Given the description of an element on the screen output the (x, y) to click on. 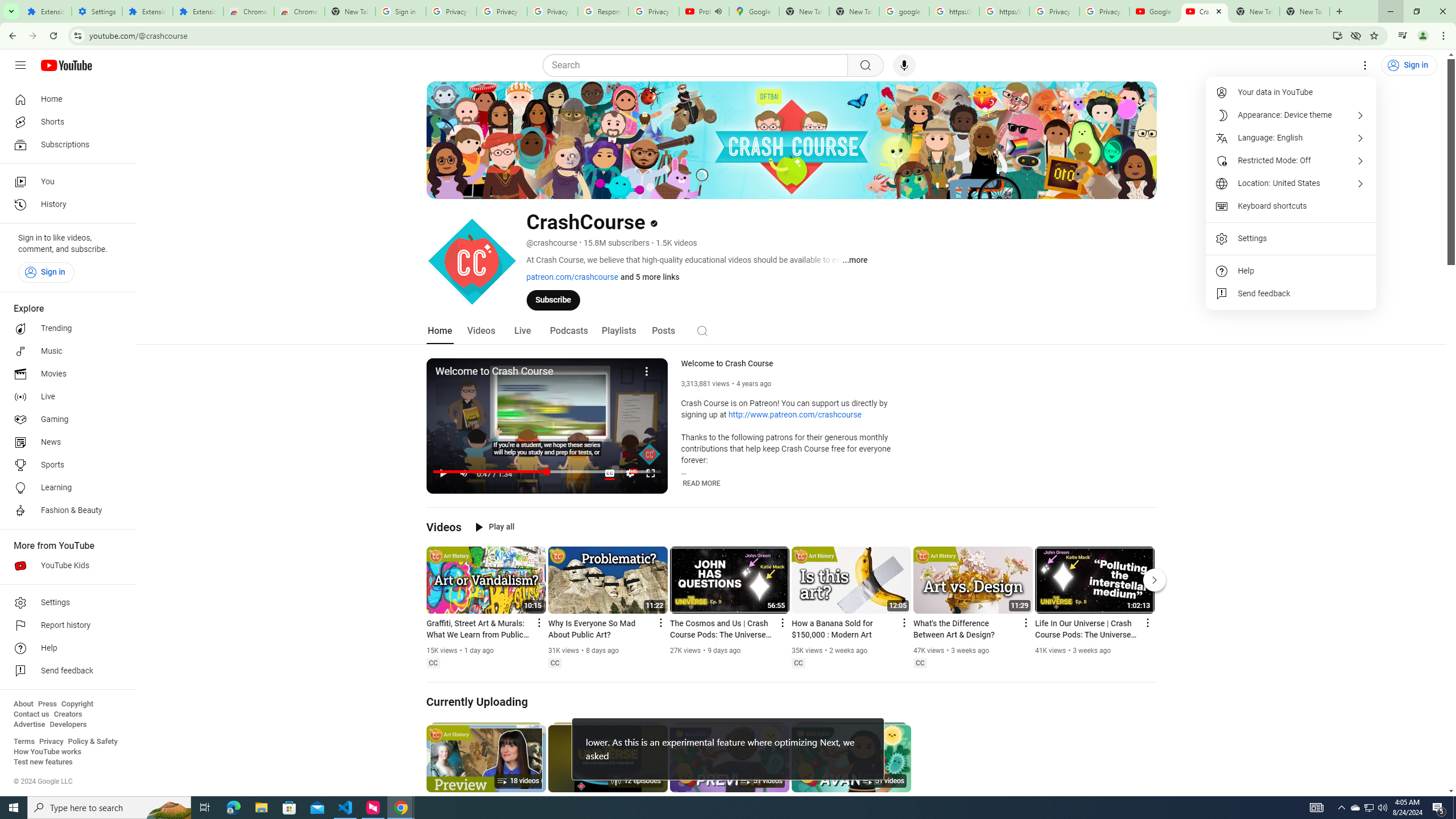
Music (64, 350)
Language: English (1291, 137)
Google - YouTube (1154, 11)
Send feedback (1291, 293)
Your data in YouTube (1291, 92)
History (64, 204)
